Given the description of an element on the screen output the (x, y) to click on. 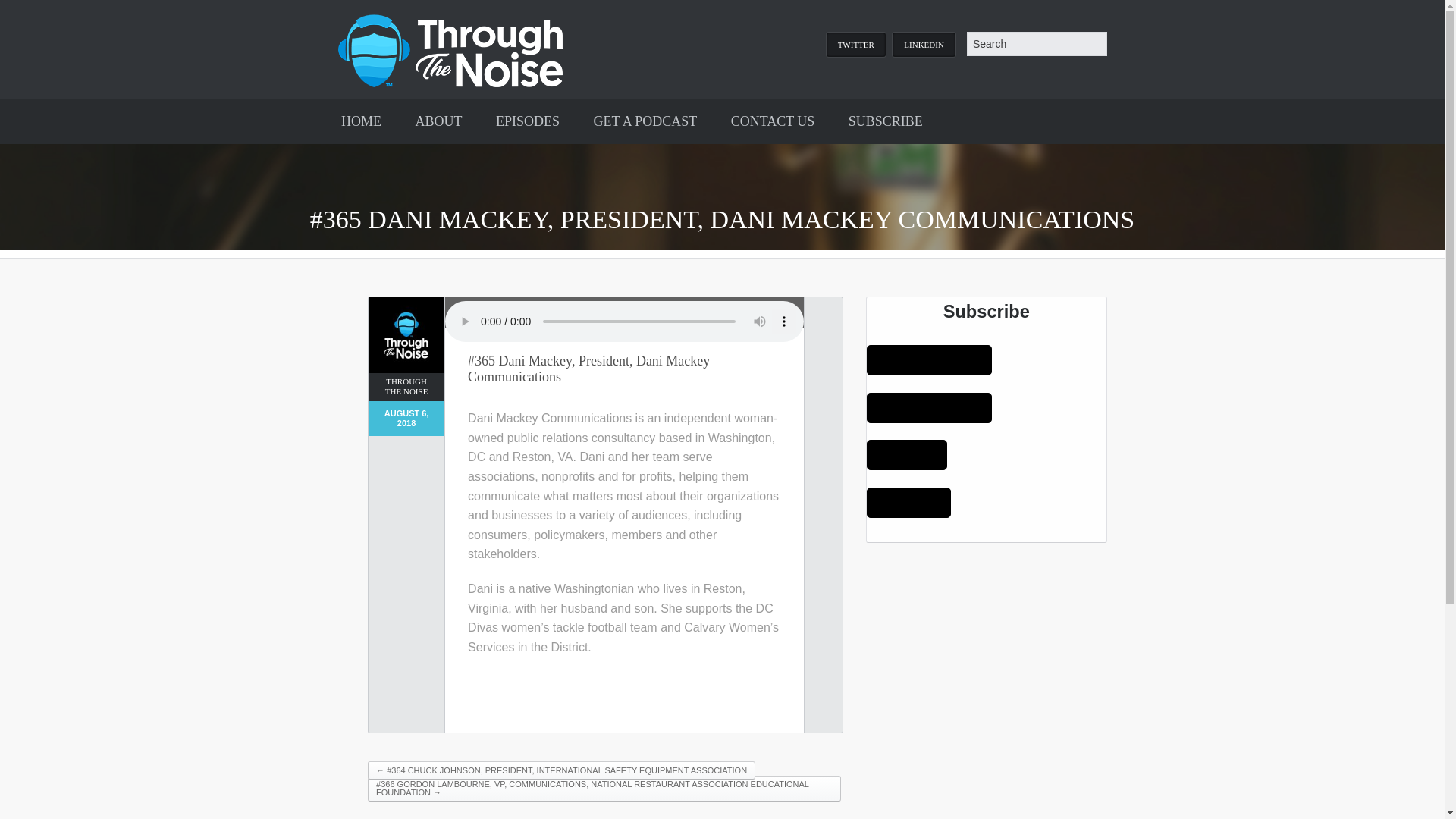
Through the Noise (450, 47)
Listen on Spotify (906, 454)
Listen on Apple Podcasts (928, 359)
EPISODES (527, 121)
TWITTER (856, 44)
HOME (361, 121)
CONTACT US (772, 121)
GET A PODCAST (644, 121)
Search (25, 9)
ABOUT (438, 121)
